Given the description of an element on the screen output the (x, y) to click on. 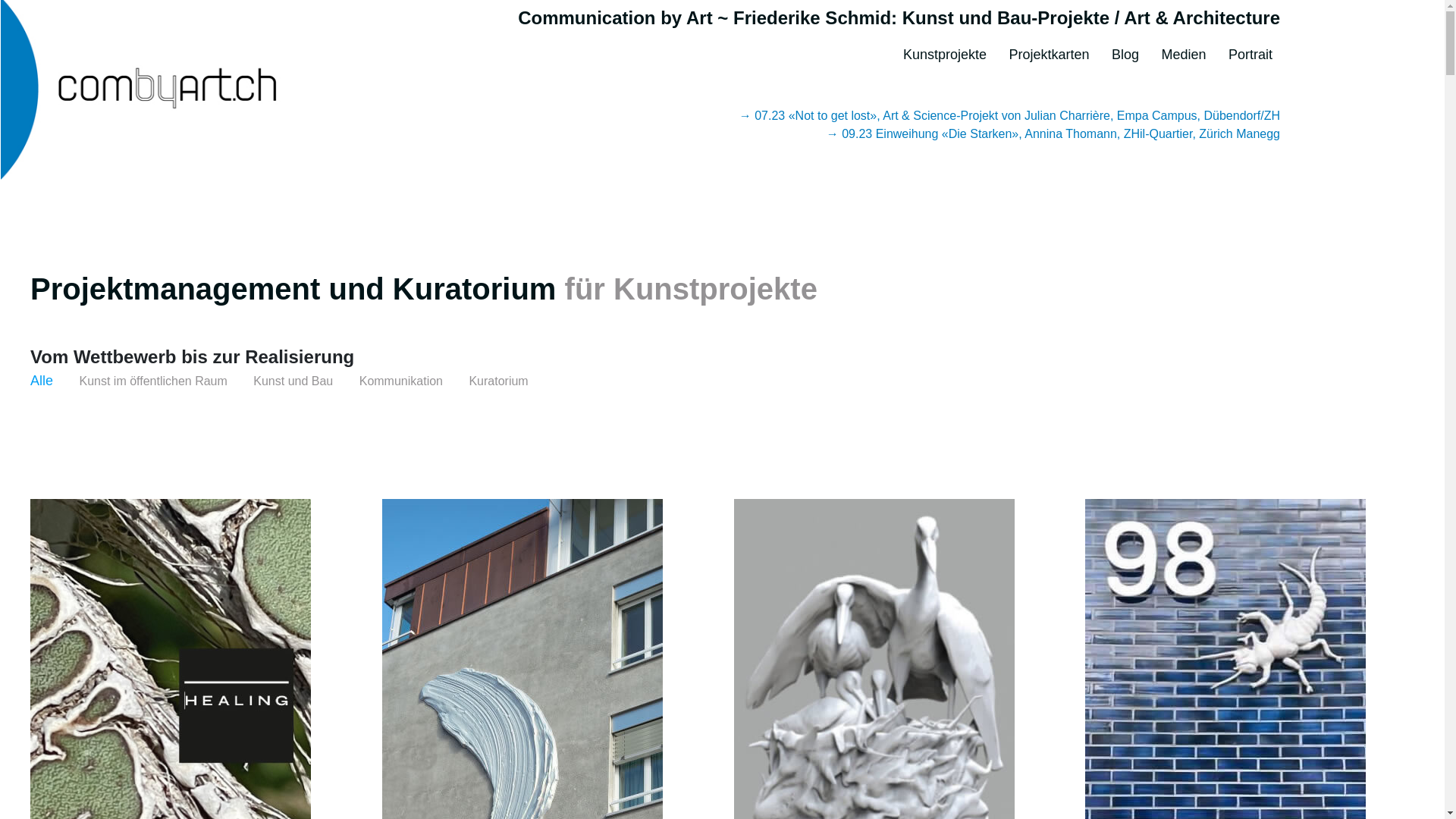
Blog Element type: text (1125, 49)
Medien Element type: text (1183, 49)
Kunstprojekte Element type: text (944, 49)
Portrait Element type: text (1250, 49)
Projektkarten Element type: text (1048, 49)
